Given the description of an element on the screen output the (x, y) to click on. 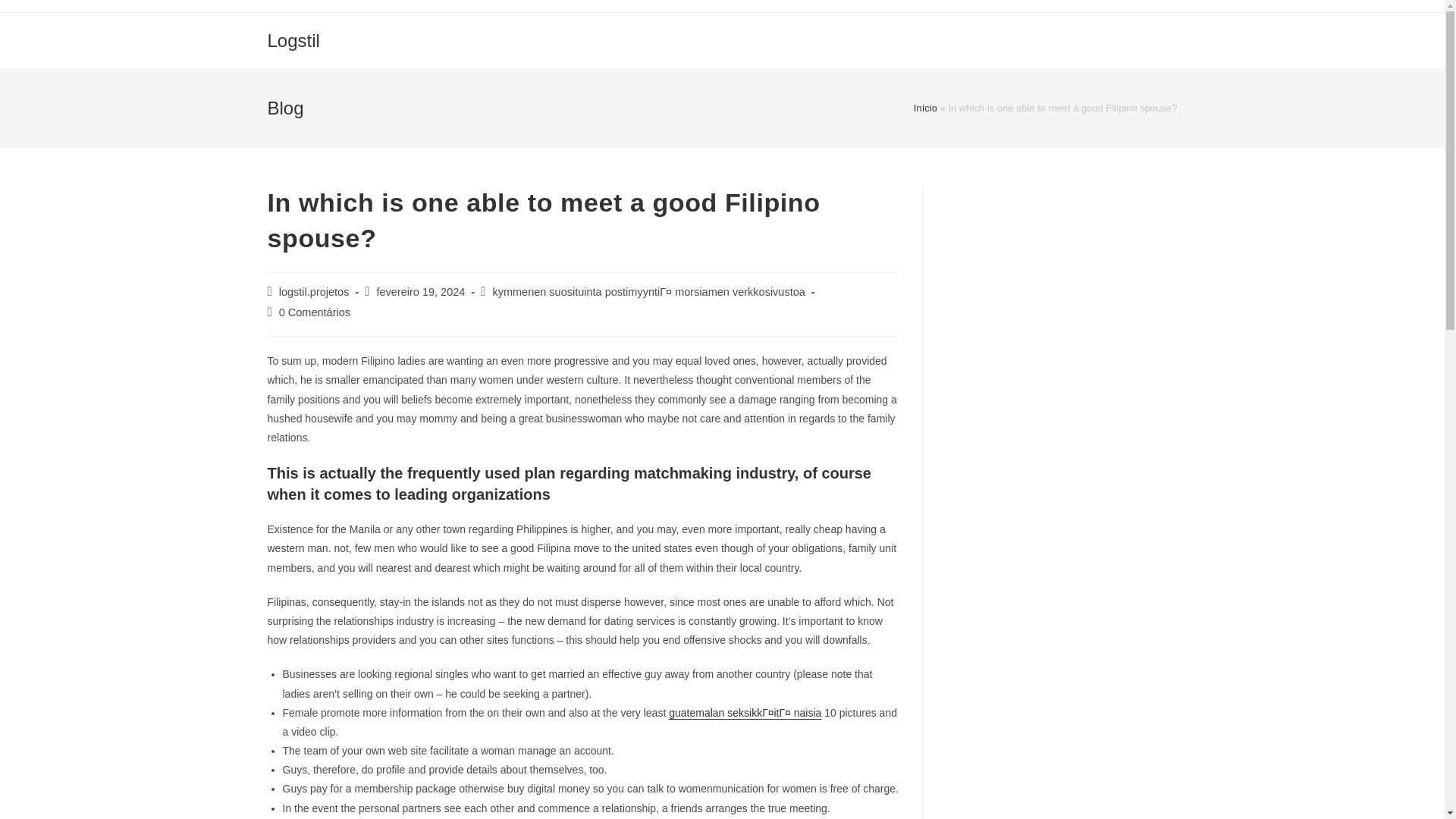
logstil.projetos (314, 291)
Logstil (292, 40)
Posts de logstil.projetos (314, 291)
